Given the description of an element on the screen output the (x, y) to click on. 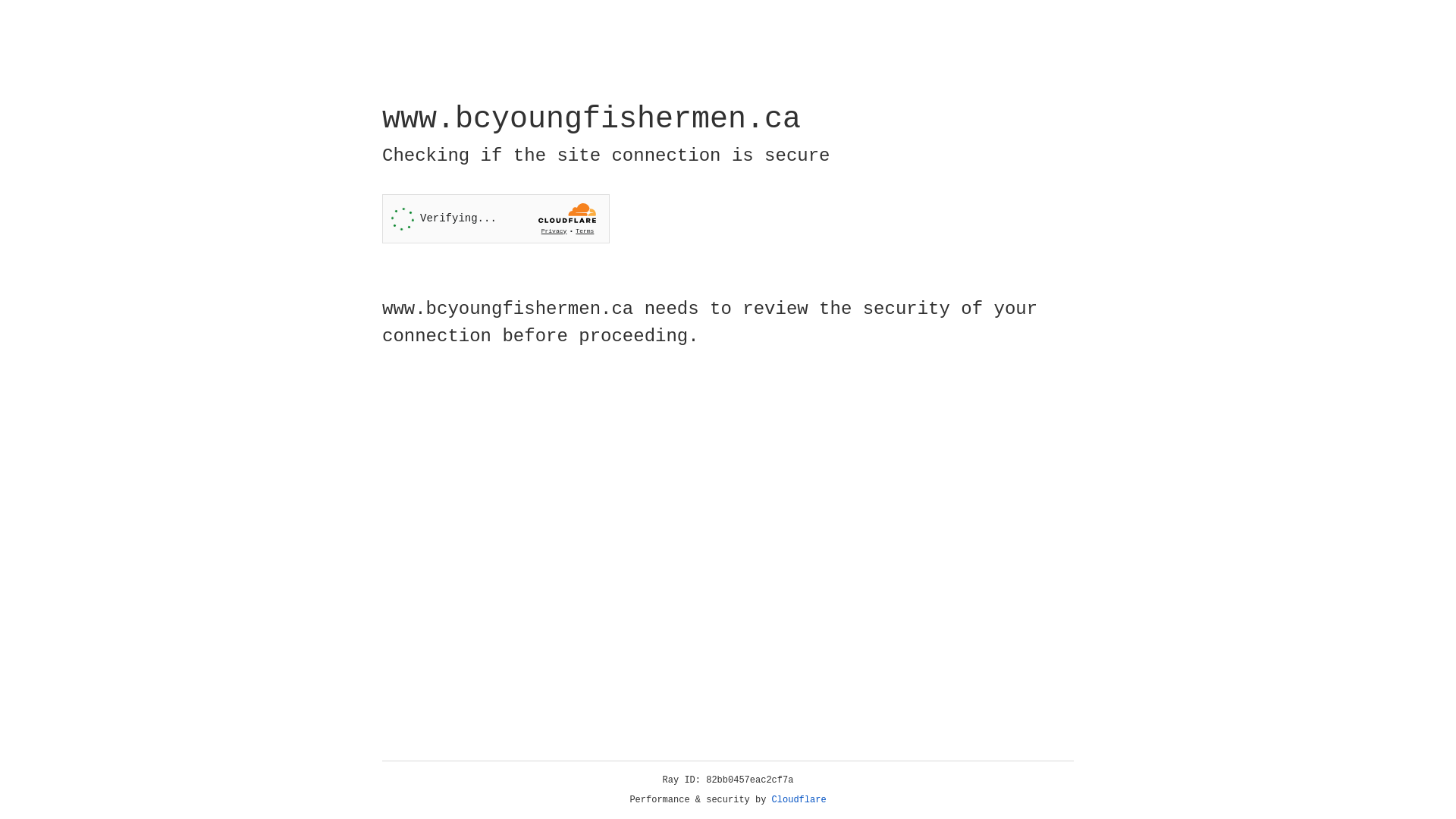
Widget containing a Cloudflare security challenge Element type: hover (495, 218)
Cloudflare Element type: text (798, 799)
